Given the description of an element on the screen output the (x, y) to click on. 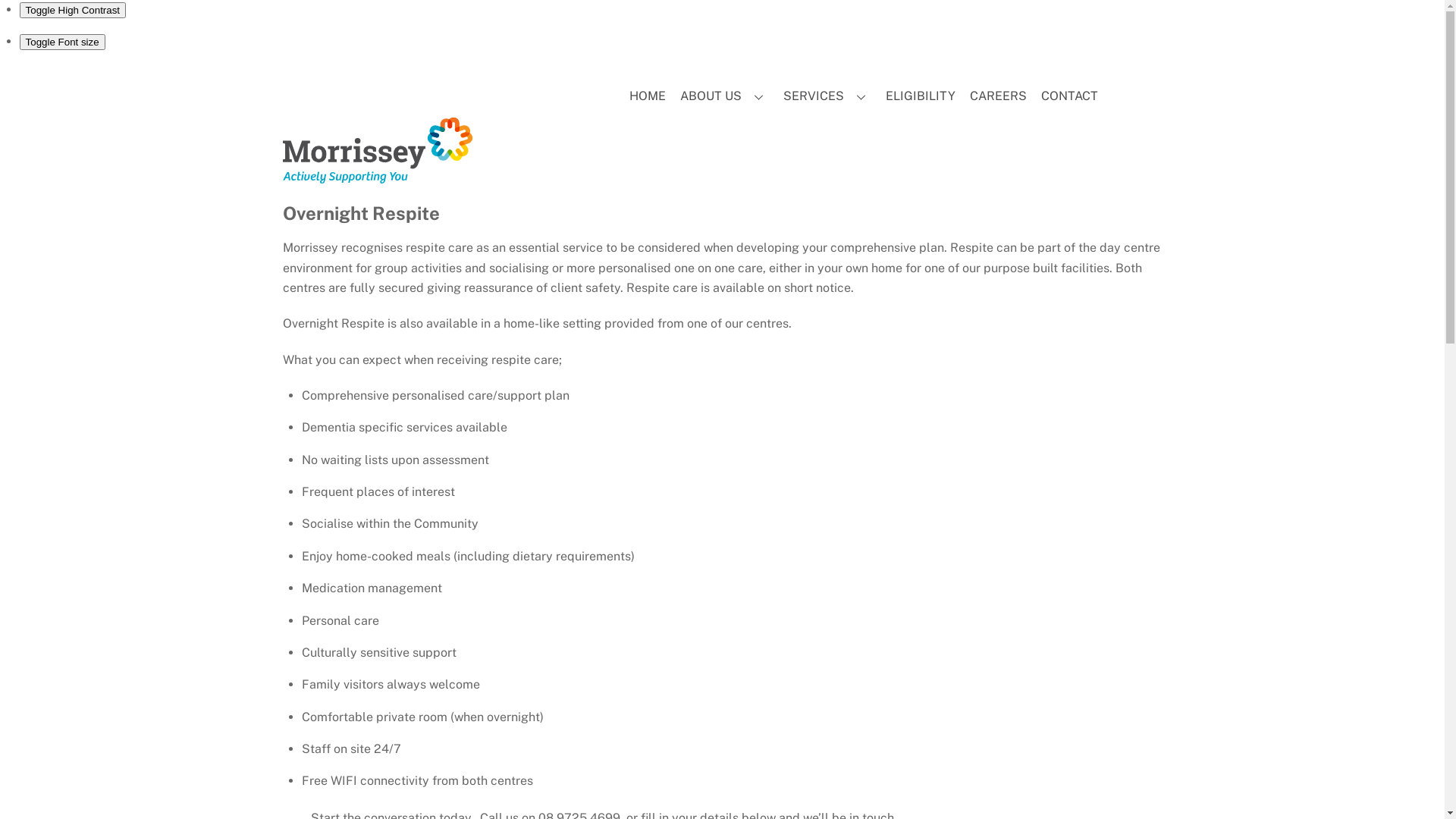
ABOUT US Element type: text (724, 95)
ELIGIBILITY Element type: text (920, 95)
Morrissey Homestead Inc. Element type: hover (376, 175)
Toggle Font size Element type: text (62, 42)
CONTACT Element type: text (1068, 95)
HOME Element type: text (647, 95)
CAREERS Element type: text (997, 95)
Morrissey Homestead Logo Element type: hover (376, 150)
SERVICES Element type: text (826, 95)
Toggle High Contrast Element type: text (72, 10)
